Given the description of an element on the screen output the (x, y) to click on. 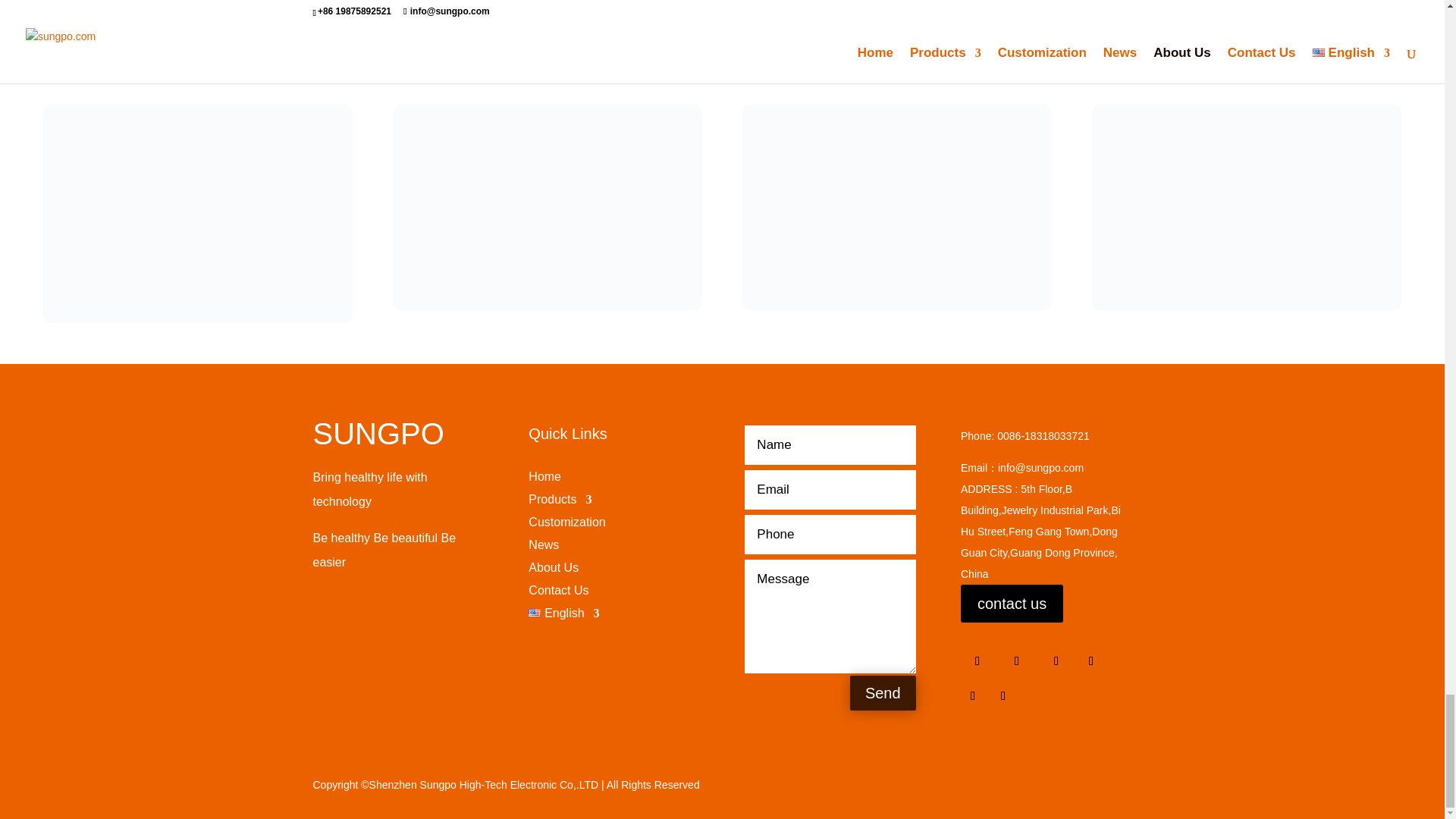
News (543, 547)
Customization (566, 524)
Home (544, 479)
Products (559, 502)
